Given the description of an element on the screen output the (x, y) to click on. 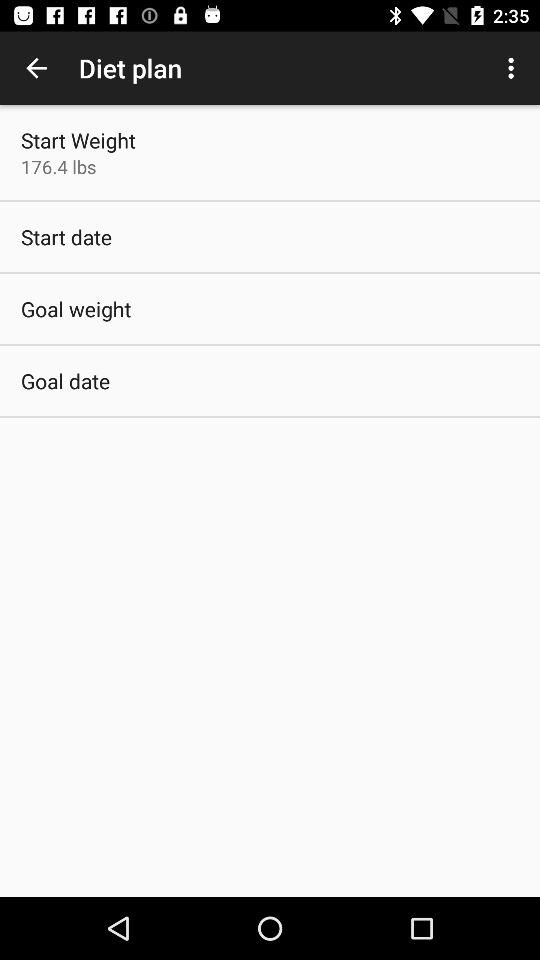
flip to the 176.4 lbs (58, 166)
